Given the description of an element on the screen output the (x, y) to click on. 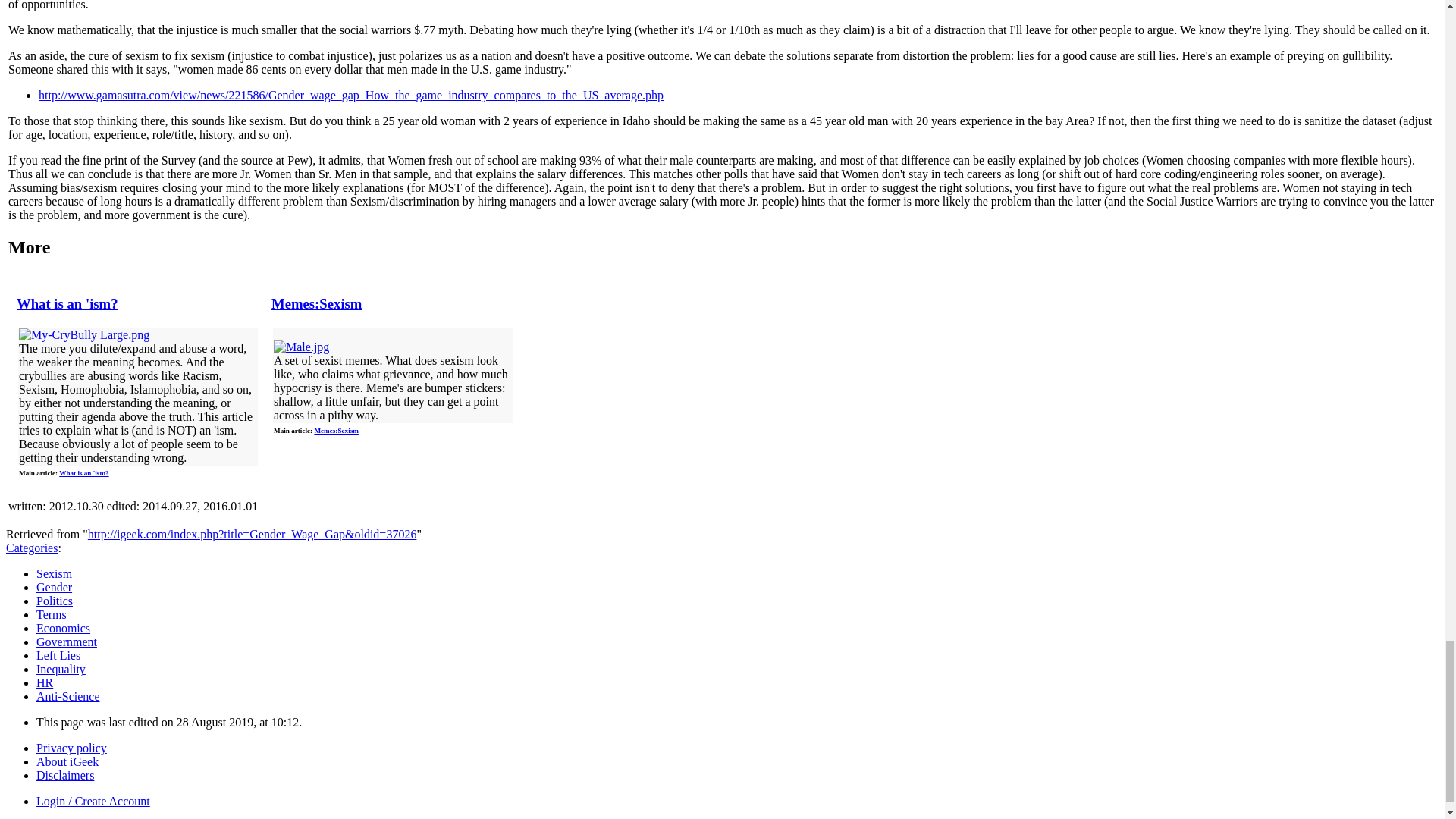
What is an 'ism? (83, 472)
Special:Categories (31, 547)
Memes:Sexism (315, 303)
What is an 'ism? (66, 303)
Memes:Sexism (336, 430)
Category:Sexism (53, 573)
